Given the description of an element on the screen output the (x, y) to click on. 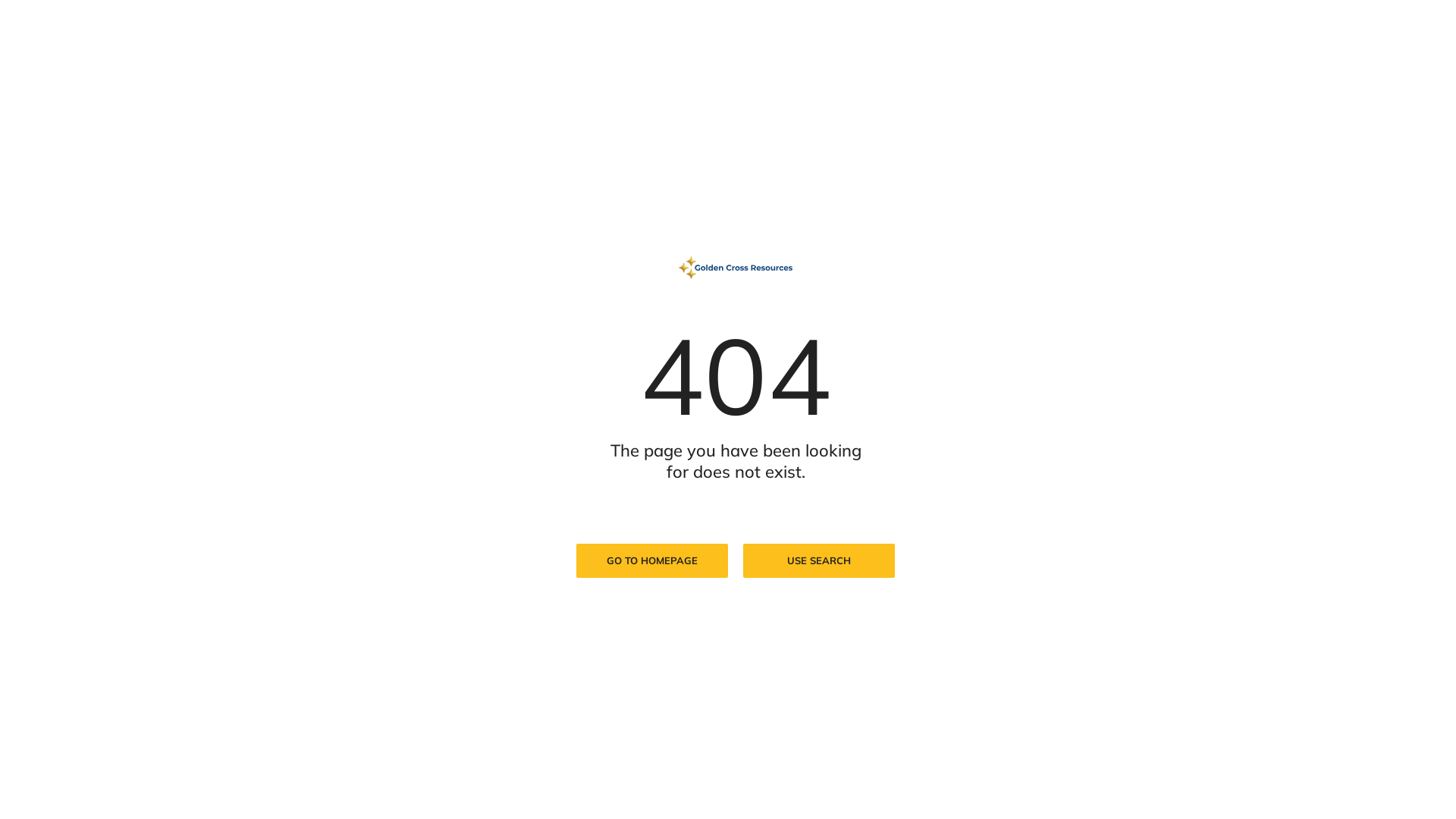
GO TO HOMEPAGE Element type: text (652, 560)
USE SEARCH Element type: text (818, 560)
